Given the description of an element on the screen output the (x, y) to click on. 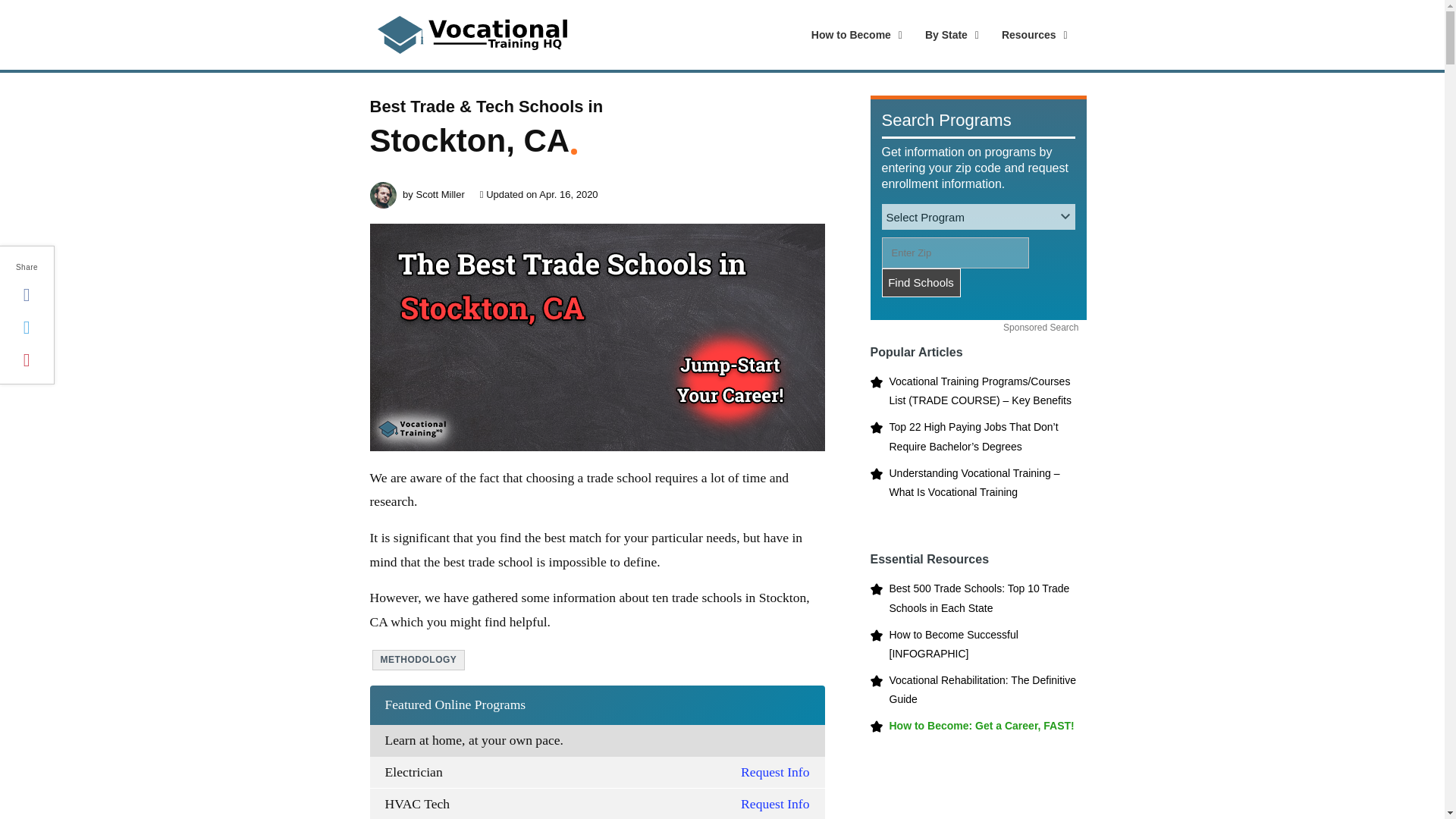
Find Schools (919, 282)
How to Become (853, 34)
By State (935, 34)
